Given the description of an element on the screen output the (x, y) to click on. 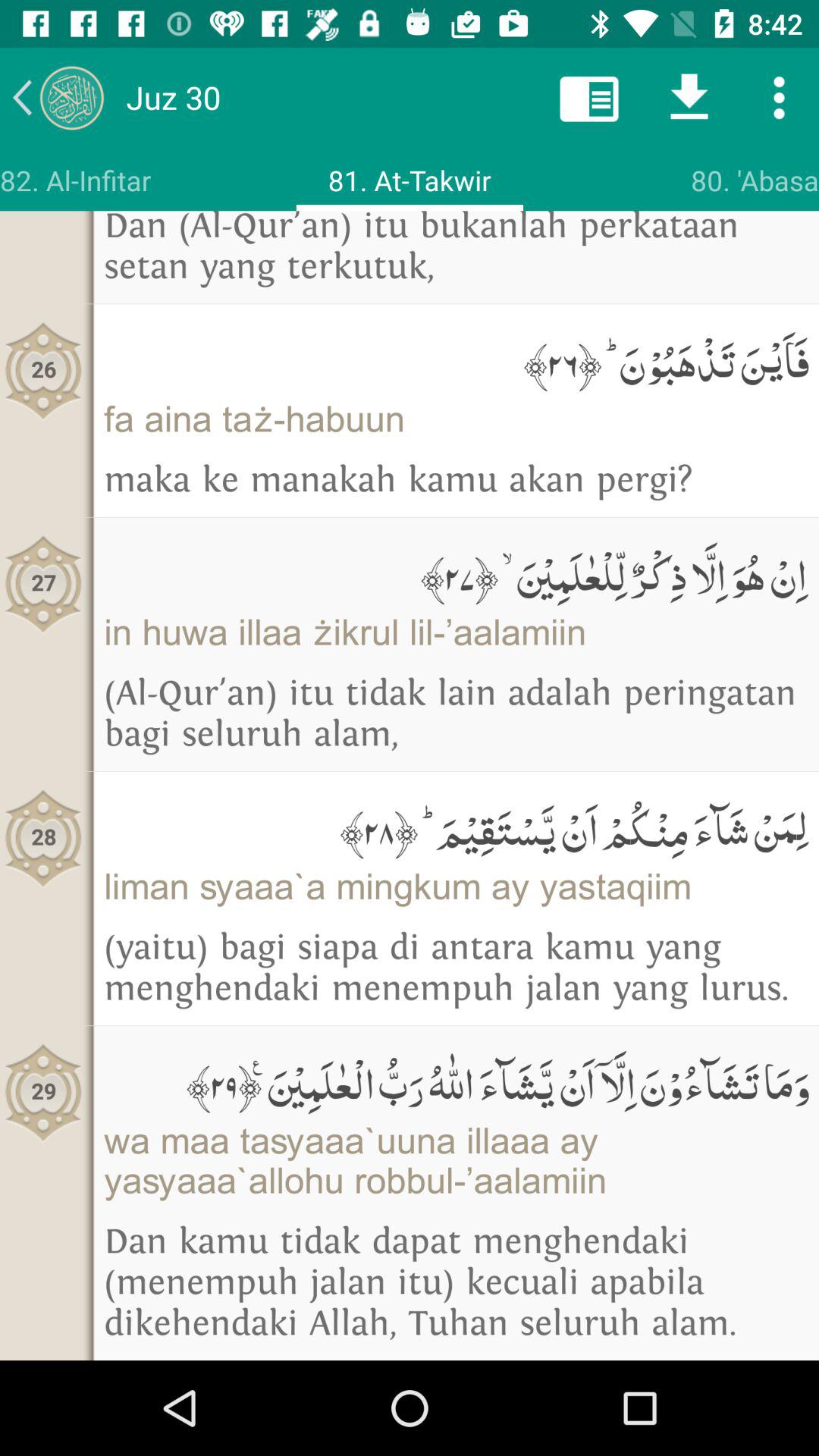
launch the liman saaa a (456, 886)
